Given the description of an element on the screen output the (x, y) to click on. 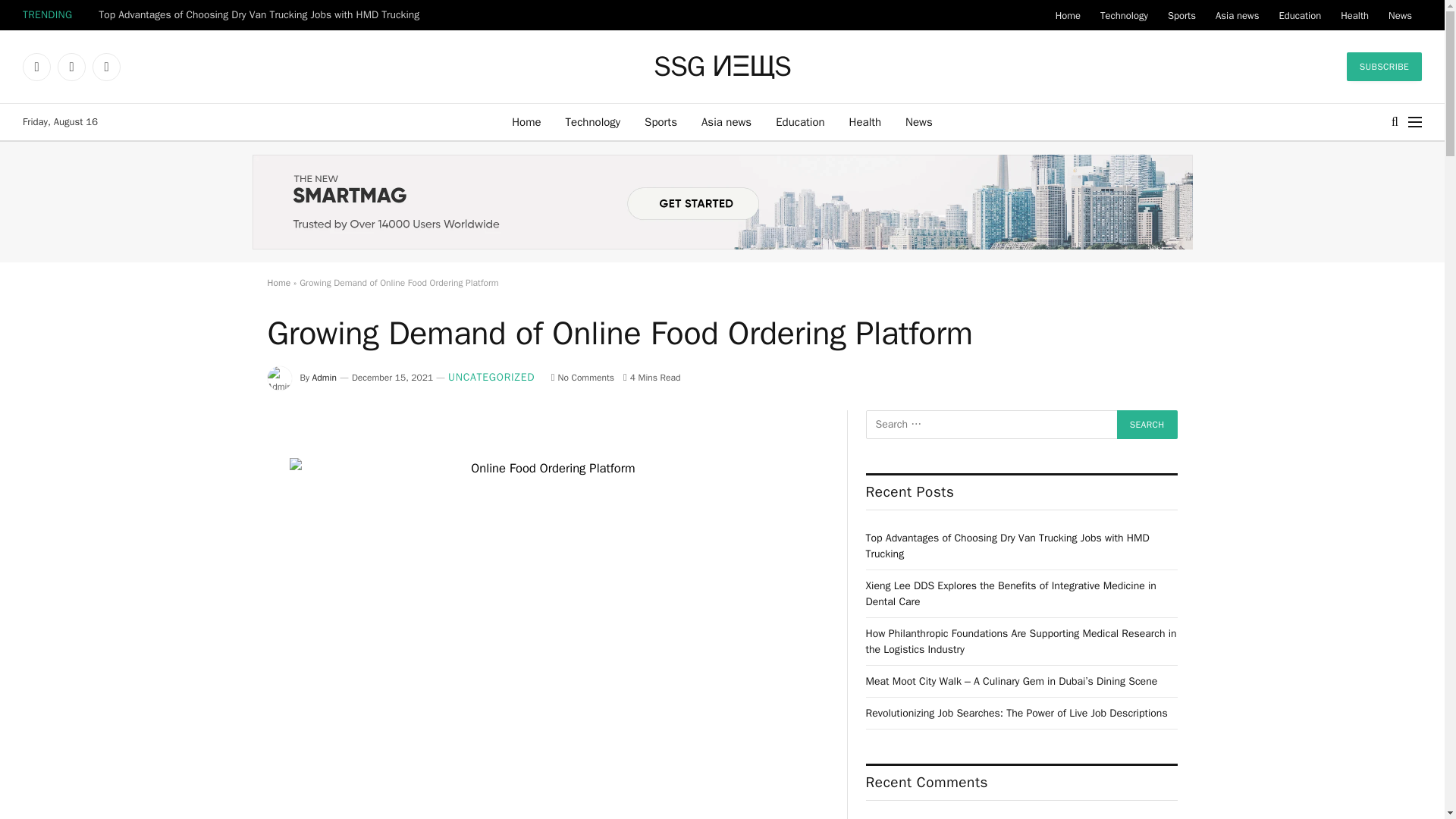
Sports (1181, 15)
Health (1354, 15)
Technology (593, 122)
Home (526, 122)
Asia news (725, 122)
Search (1146, 424)
Education (798, 122)
Technology (1123, 15)
Asia news (1236, 15)
Home (1067, 15)
